Given the description of an element on the screen output the (x, y) to click on. 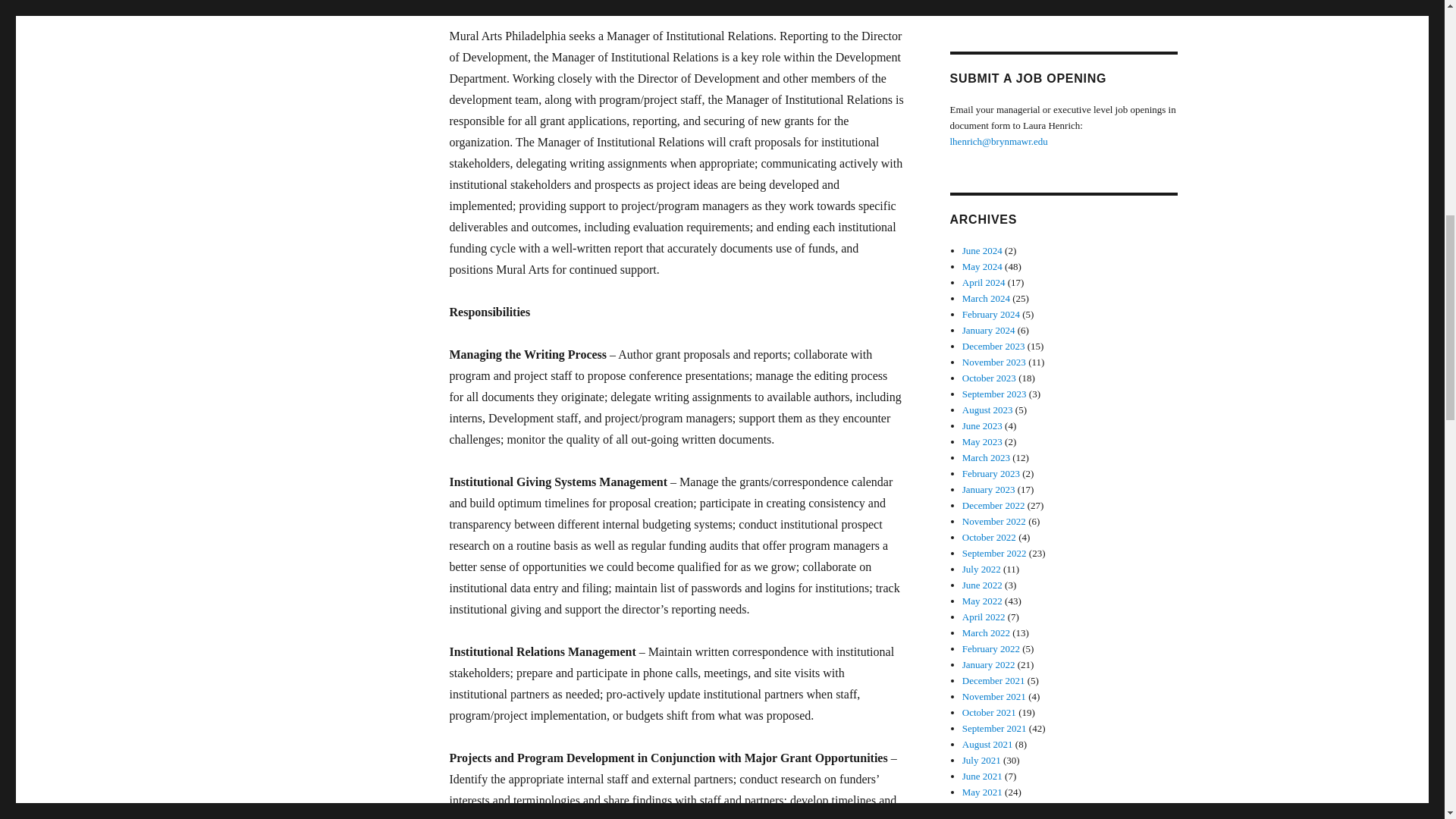
June 2022 (982, 584)
May 2024 (982, 266)
May 2022 (982, 600)
November 2023 (994, 361)
May 2023 (982, 441)
August 2023 (987, 409)
January 2024 (988, 329)
March 2023 (986, 457)
September 2023 (994, 393)
February 2023 (991, 473)
October 2023 (989, 378)
November 2022 (994, 521)
October 2022 (989, 536)
March 2024 (986, 297)
April 2024 (984, 282)
